Given the description of an element on the screen output the (x, y) to click on. 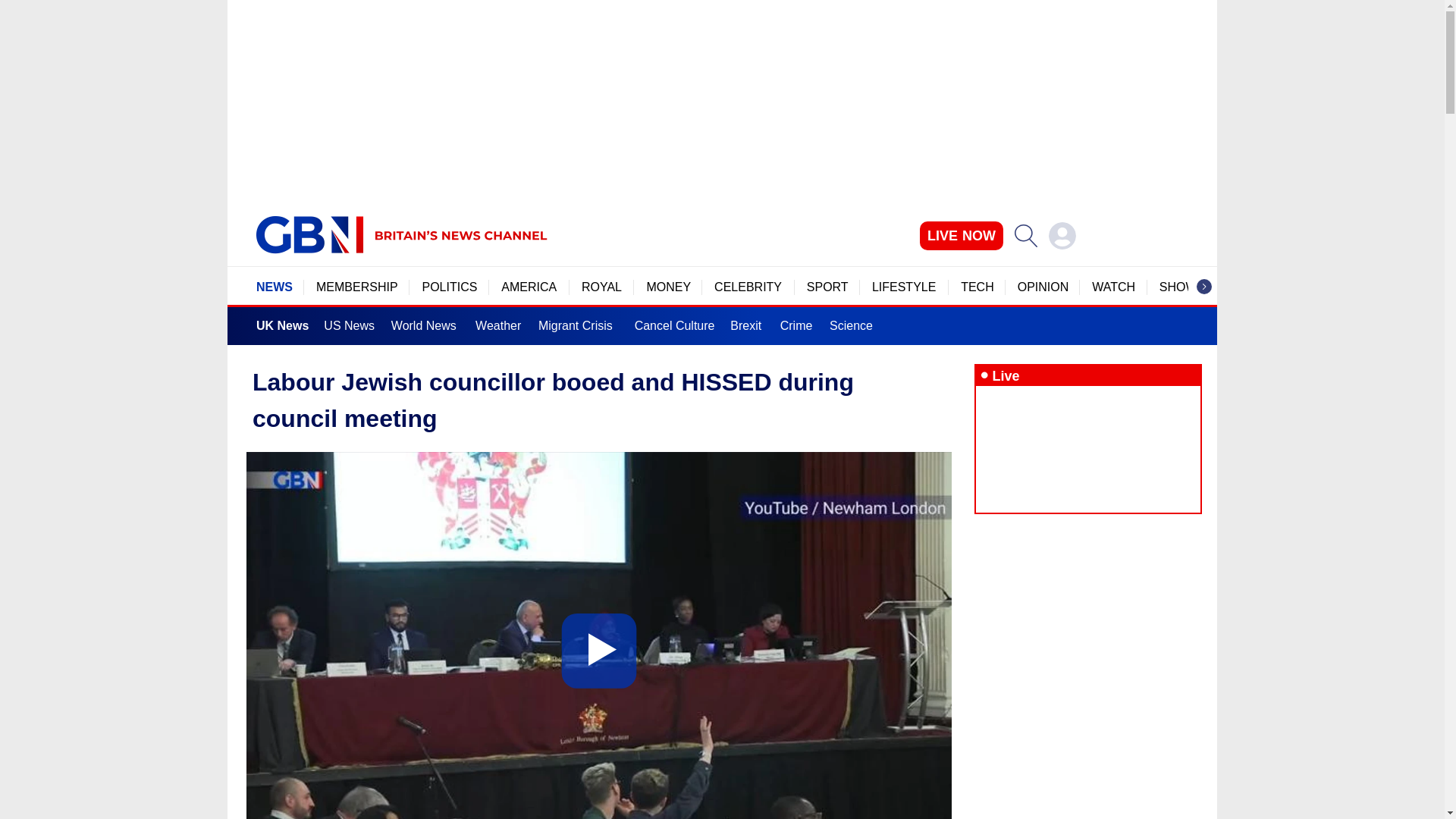
Search (1025, 235)
LIVE (961, 235)
GBN Britain's News Channel (310, 235)
